Given the description of an element on the screen output the (x, y) to click on. 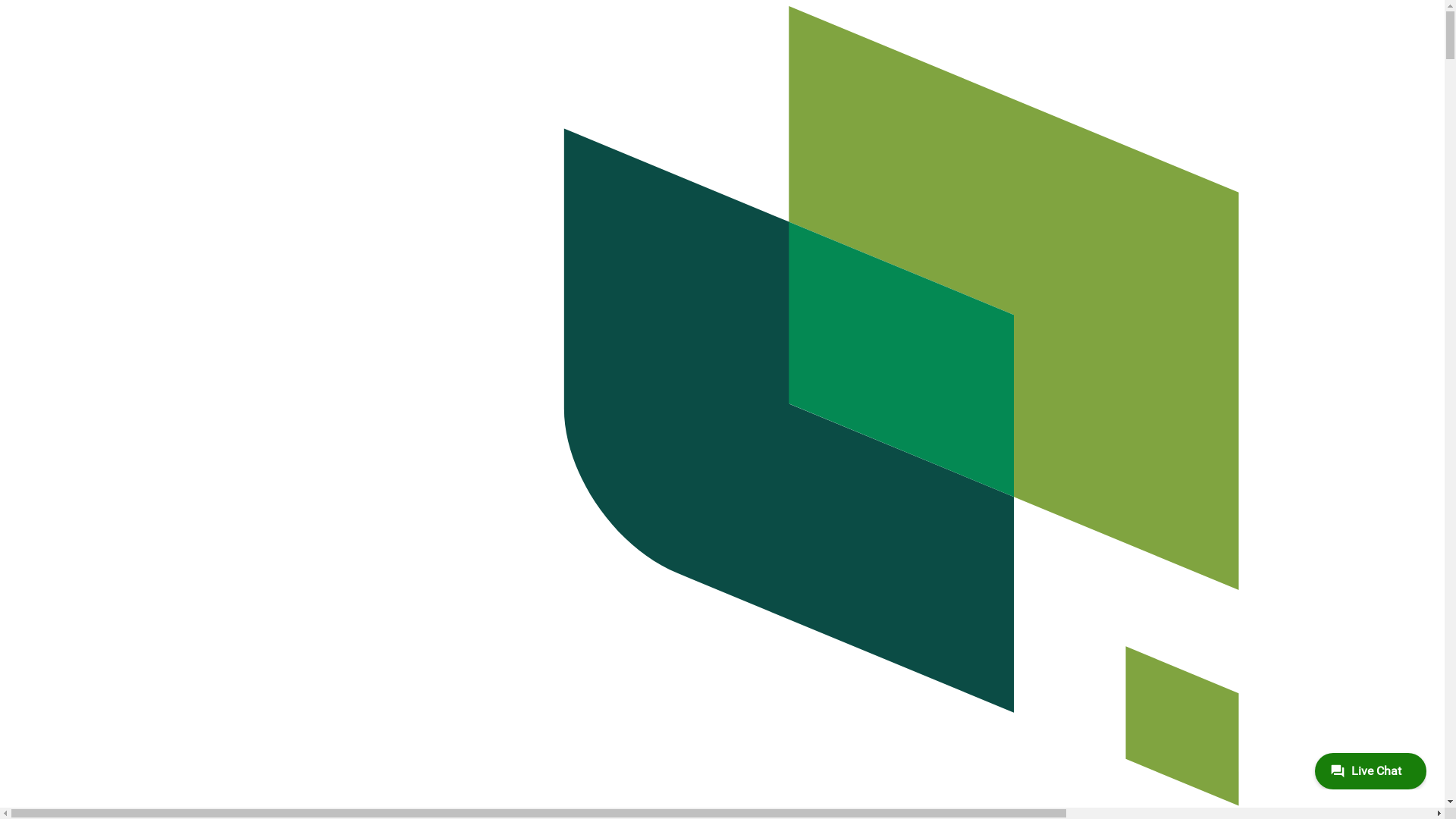
Skip to main content Element type: text (6, 6)
